Given the description of an element on the screen output the (x, y) to click on. 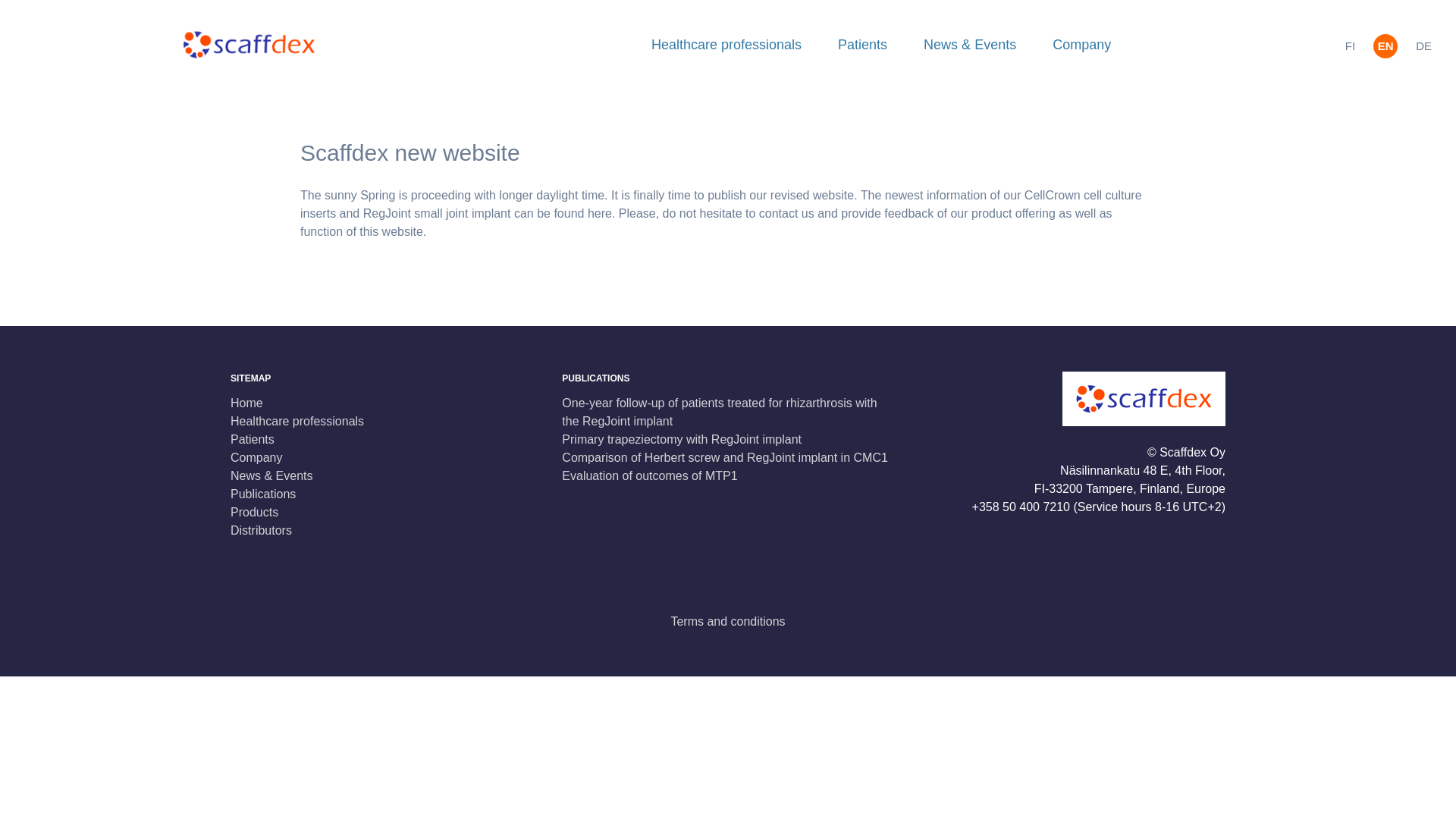
Publications (262, 493)
DE (1423, 46)
Scaffdex on LinkedIn (1216, 543)
Primary trapeziectomy with RegJoint implant (682, 439)
EN (1385, 45)
Company (1081, 45)
Terms and conditions (726, 621)
Home (246, 402)
Healthcare professionals (726, 45)
Scaffdex on Twitter (1185, 543)
